Given the description of an element on the screen output the (x, y) to click on. 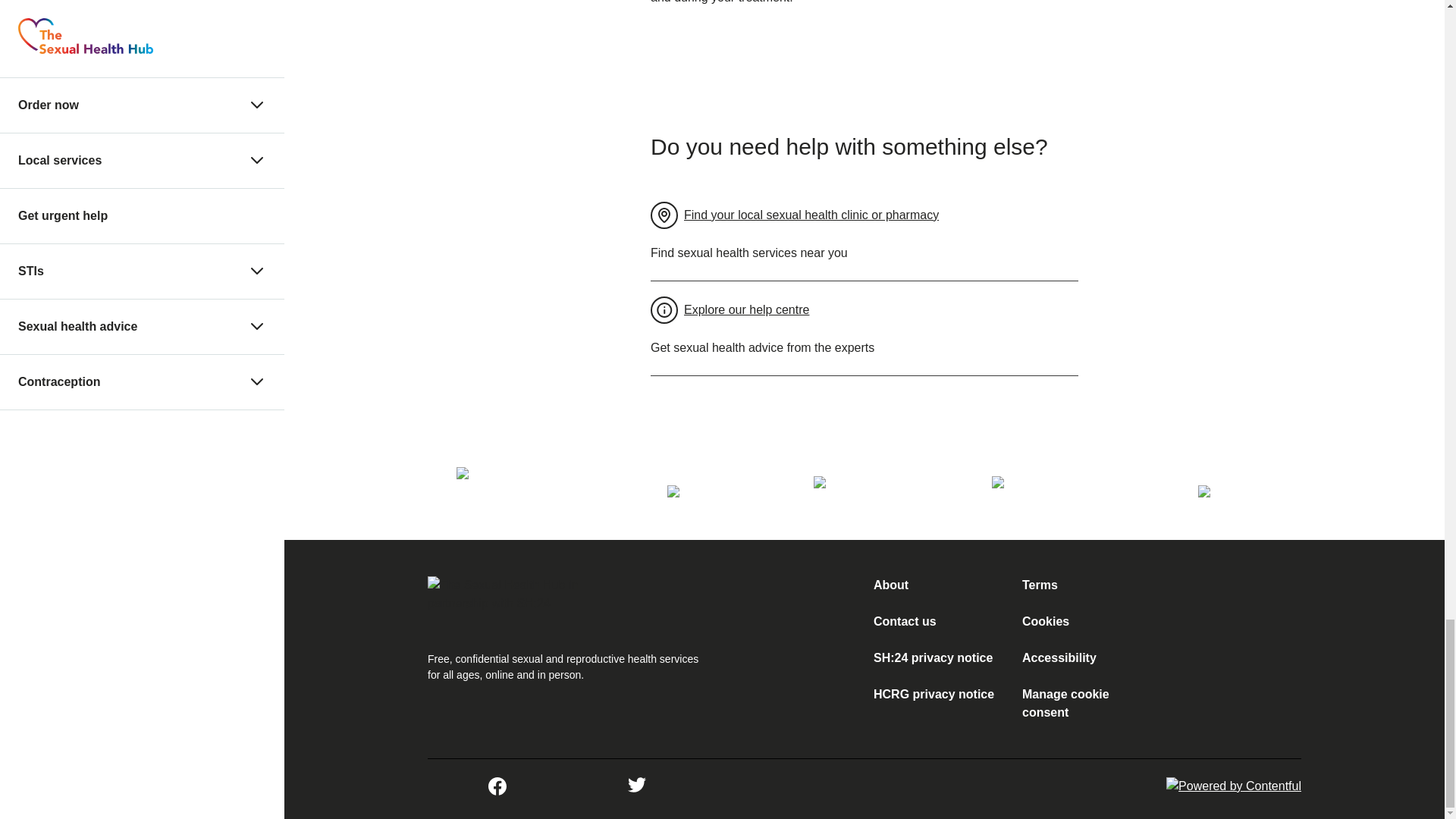
About (890, 584)
Terms (1040, 584)
Explore our help centre (729, 310)
Cookies (1045, 621)
Manage cookie consent (1087, 703)
Find your local sexual health clinic or pharmacy (794, 215)
Facebook (496, 786)
Facebook (496, 790)
HCRG privacy notice (933, 694)
Accessibility (1059, 657)
Twitter (636, 786)
Twitter (636, 790)
SH:24 privacy notice (932, 657)
Contact us (904, 621)
